Given the description of an element on the screen output the (x, y) to click on. 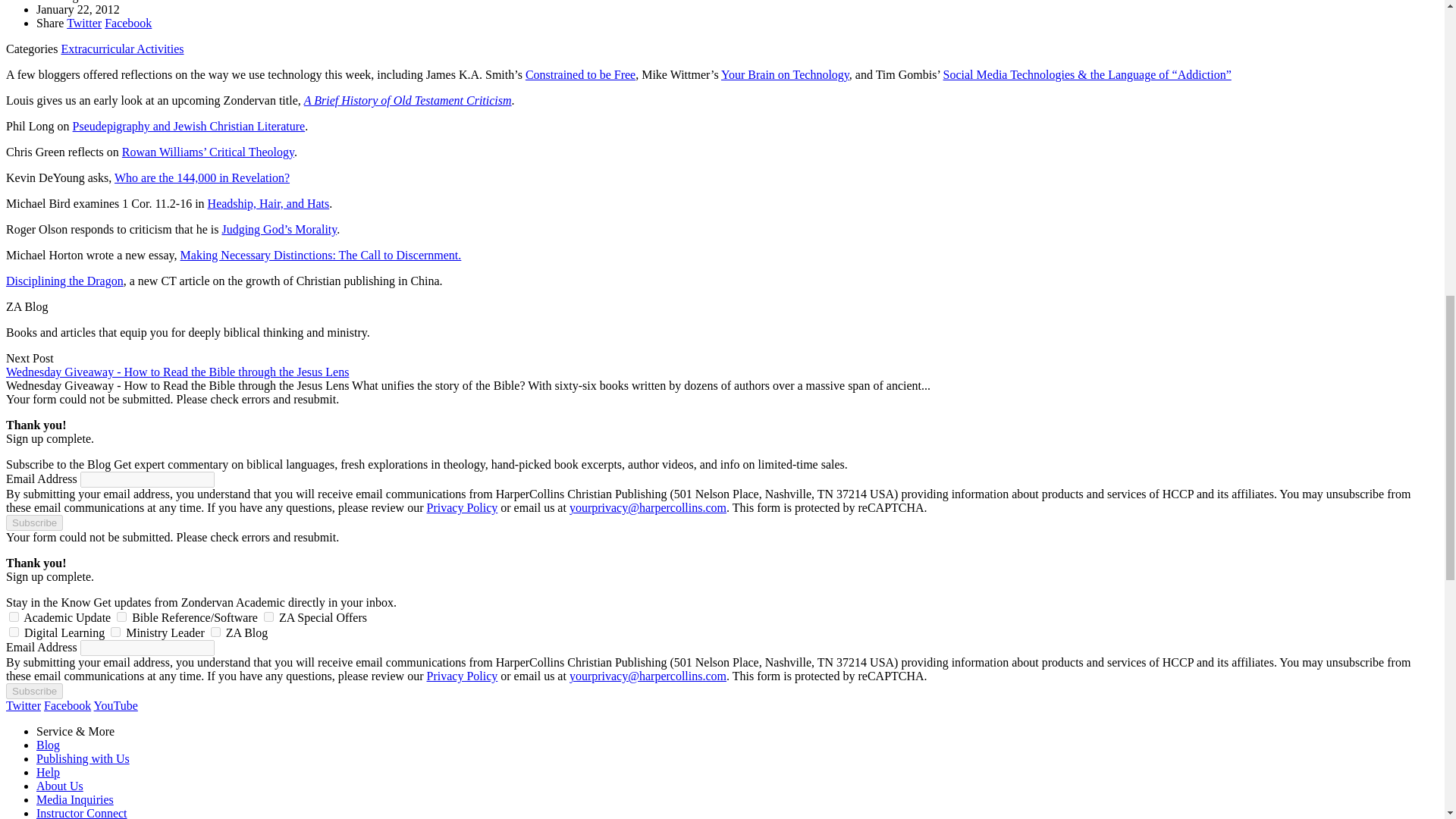
Yes (121, 616)
Yes (216, 632)
Yes (268, 616)
Subscribe (33, 691)
Yes (115, 632)
Yes (13, 632)
Yes (13, 616)
Subscribe (33, 522)
